Given the description of an element on the screen output the (x, y) to click on. 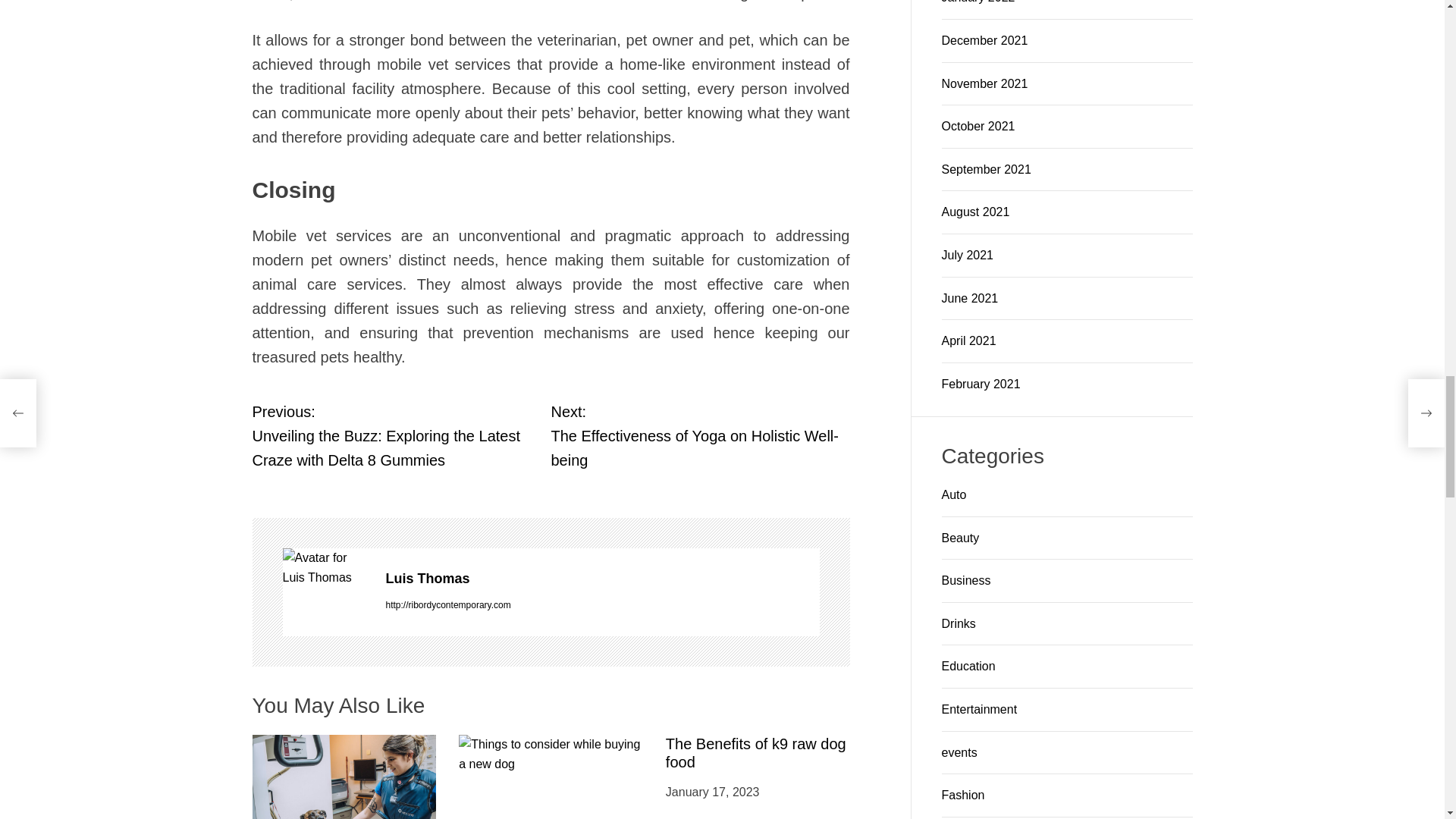
Luis Thomas (325, 286)
Things to consider while buying a new dog (539, 605)
Luis Thomas (601, 298)
Luis Thomas (699, 154)
The Benefits of k9 raw dog food (601, 298)
